Given the description of an element on the screen output the (x, y) to click on. 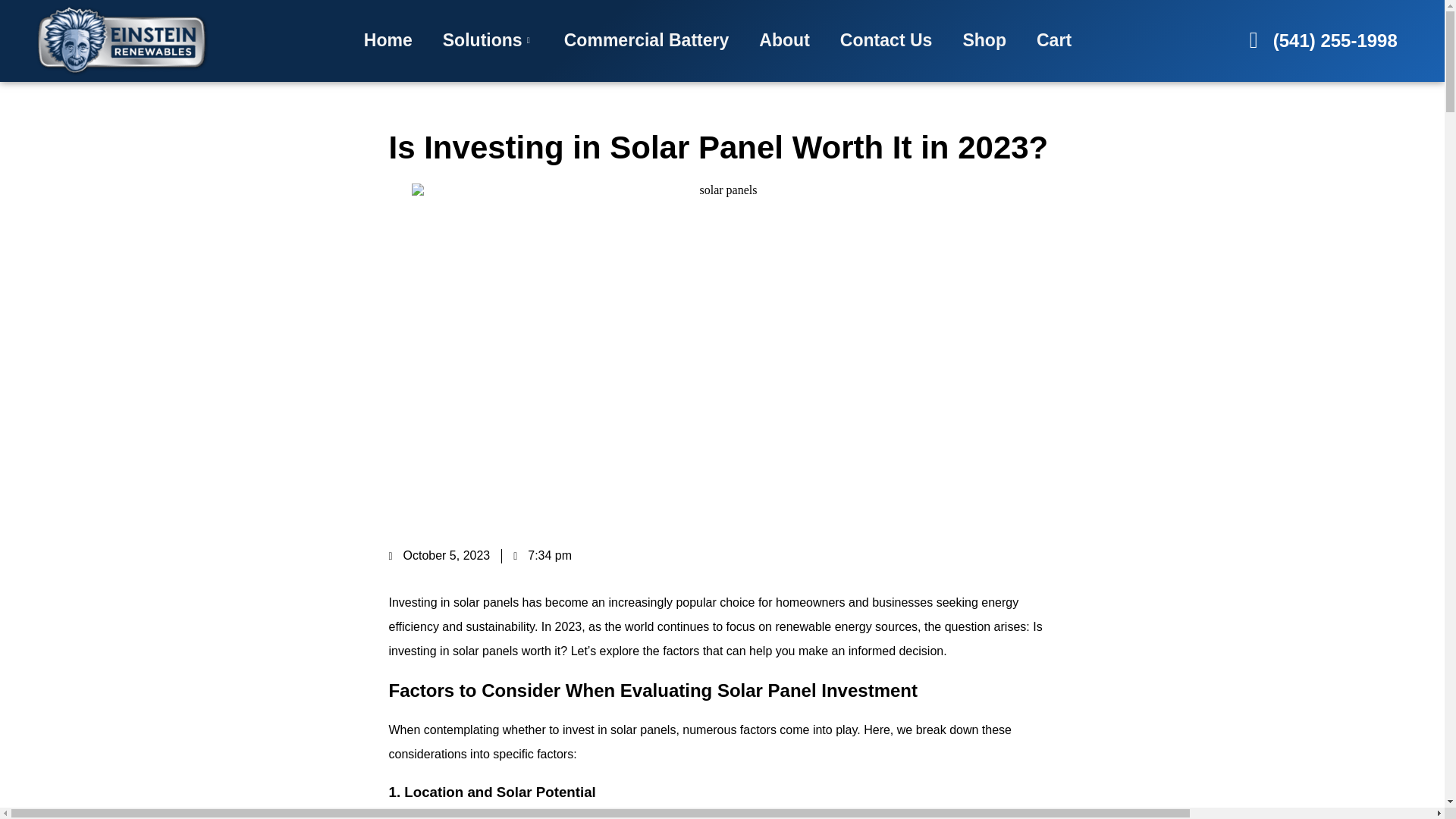
Shop (984, 39)
Home (388, 39)
Cart (1054, 39)
About (784, 39)
October 5, 2023 (438, 555)
Contact Us (886, 39)
Solutions (488, 39)
Commercial Battery (646, 39)
